Given the description of an element on the screen output the (x, y) to click on. 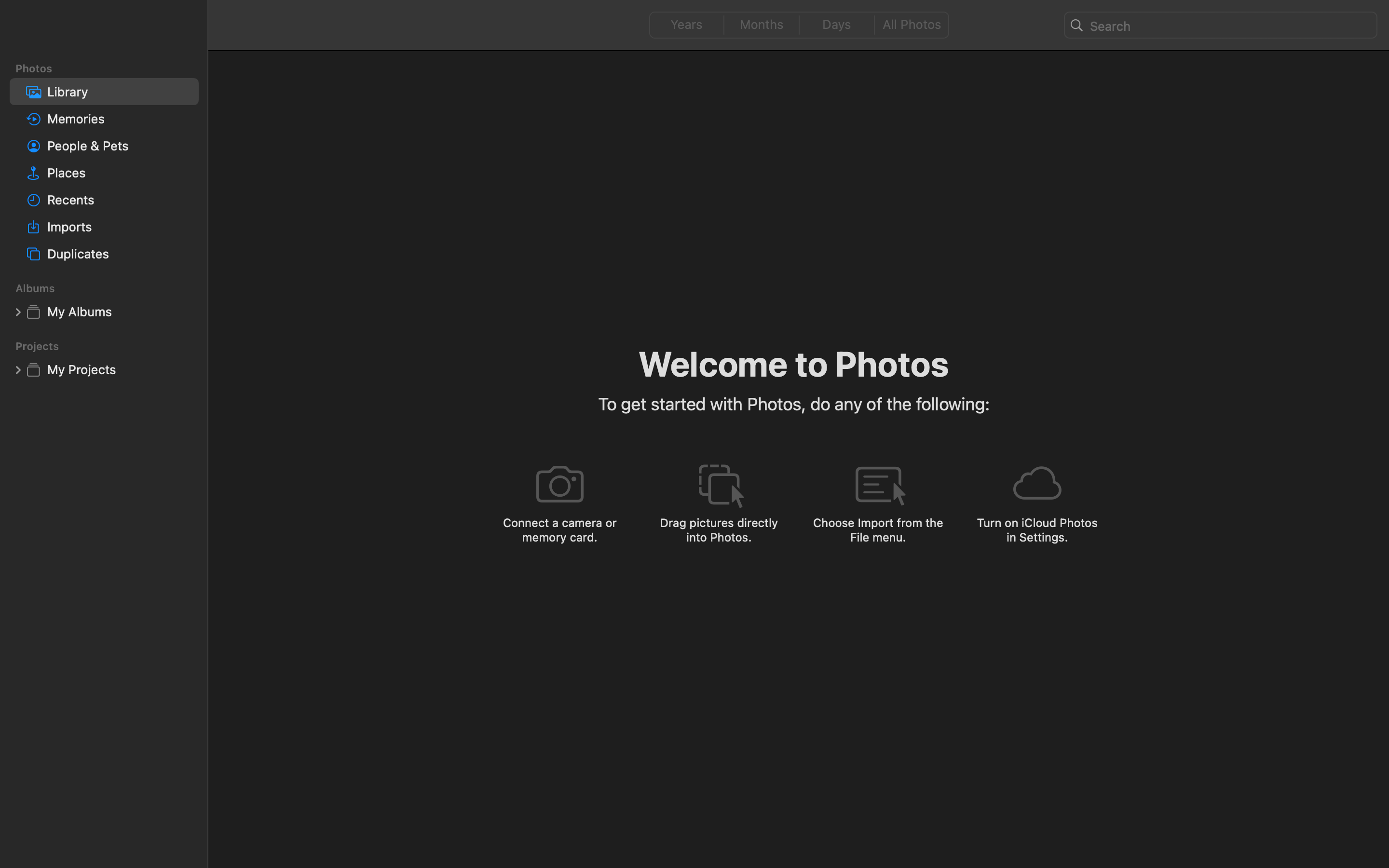
Albums Element type: AXStaticText (109, 288)
0 Element type: AXDisclosureTriangle (17, 311)
Connect a camera or memory card. Element type: AXStaticText (559, 529)
Memories Element type: AXStaticText (118, 118)
My Projects Element type: AXStaticText (118, 369)
